Given the description of an element on the screen output the (x, y) to click on. 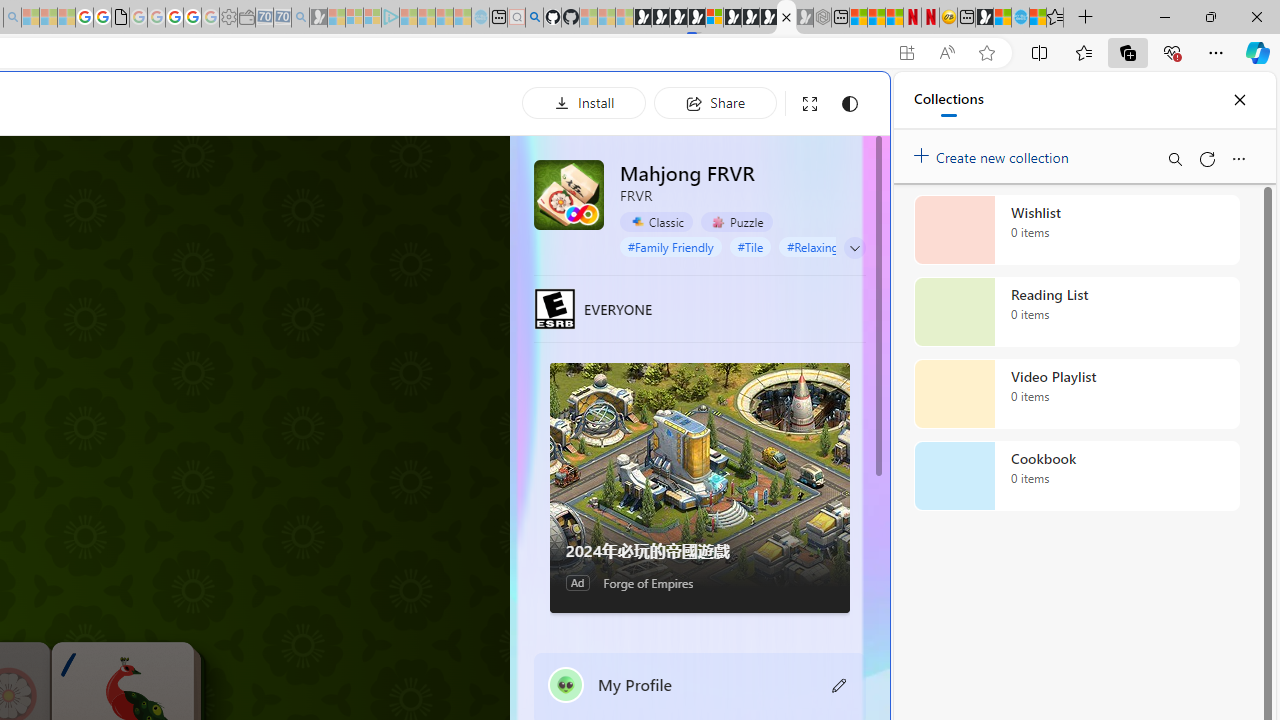
Close split screen (844, 102)
Puzzle (737, 222)
Video Playlist collection, 0 items (1076, 394)
Frequently visited (418, 265)
Classic (656, 221)
Class: control (855, 248)
Cookbook collection, 0 items (1076, 475)
